Given the description of an element on the screen output the (x, y) to click on. 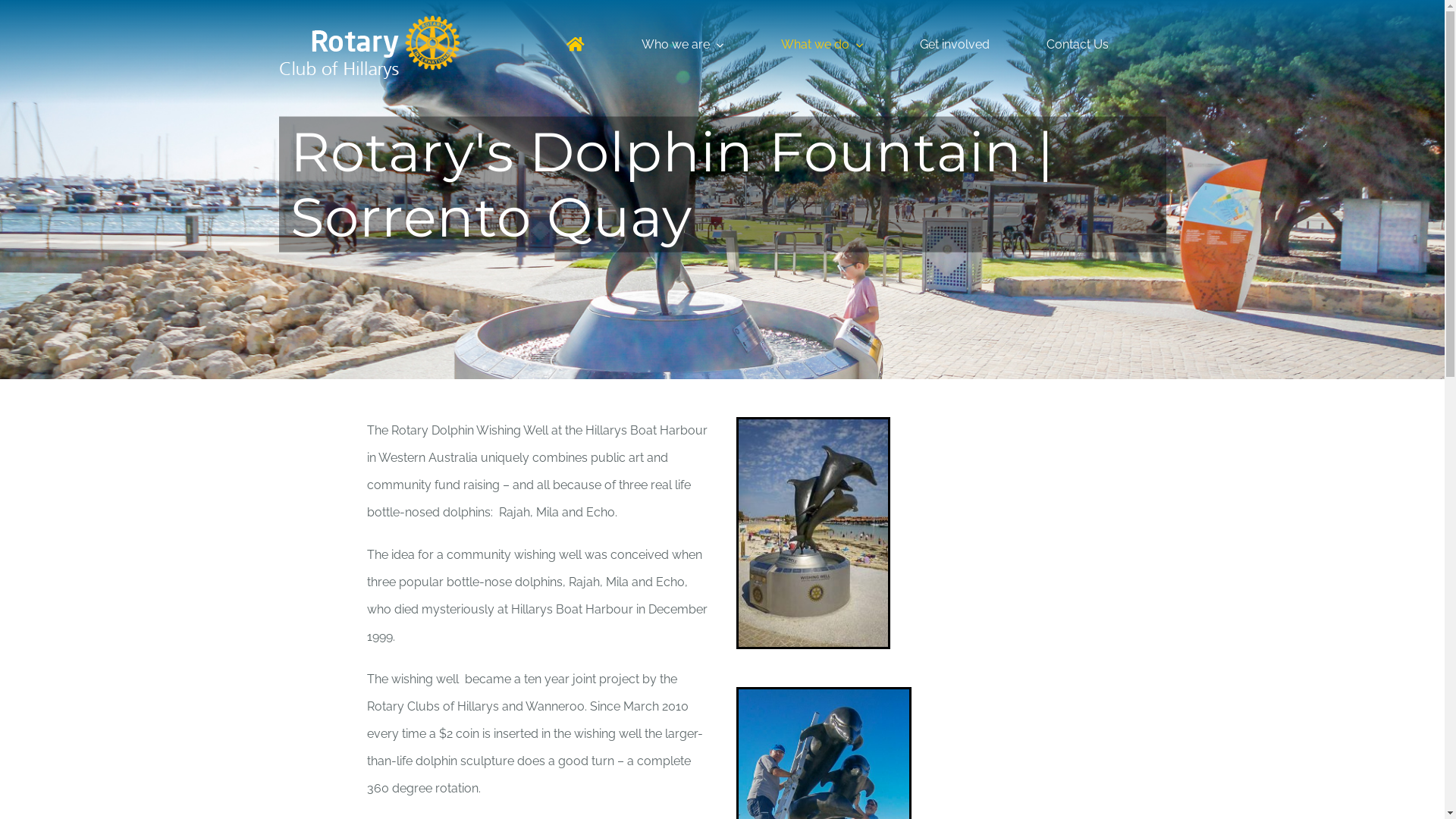
Get involved Element type: text (954, 43)
Rotary Club of Hillarys | Dolphin Fountain Element type: hover (813, 532)
Who we are Element type: text (682, 43)
What we do Element type: text (821, 43)
Contact Us Element type: text (1077, 43)
